Given the description of an element on the screen output the (x, y) to click on. 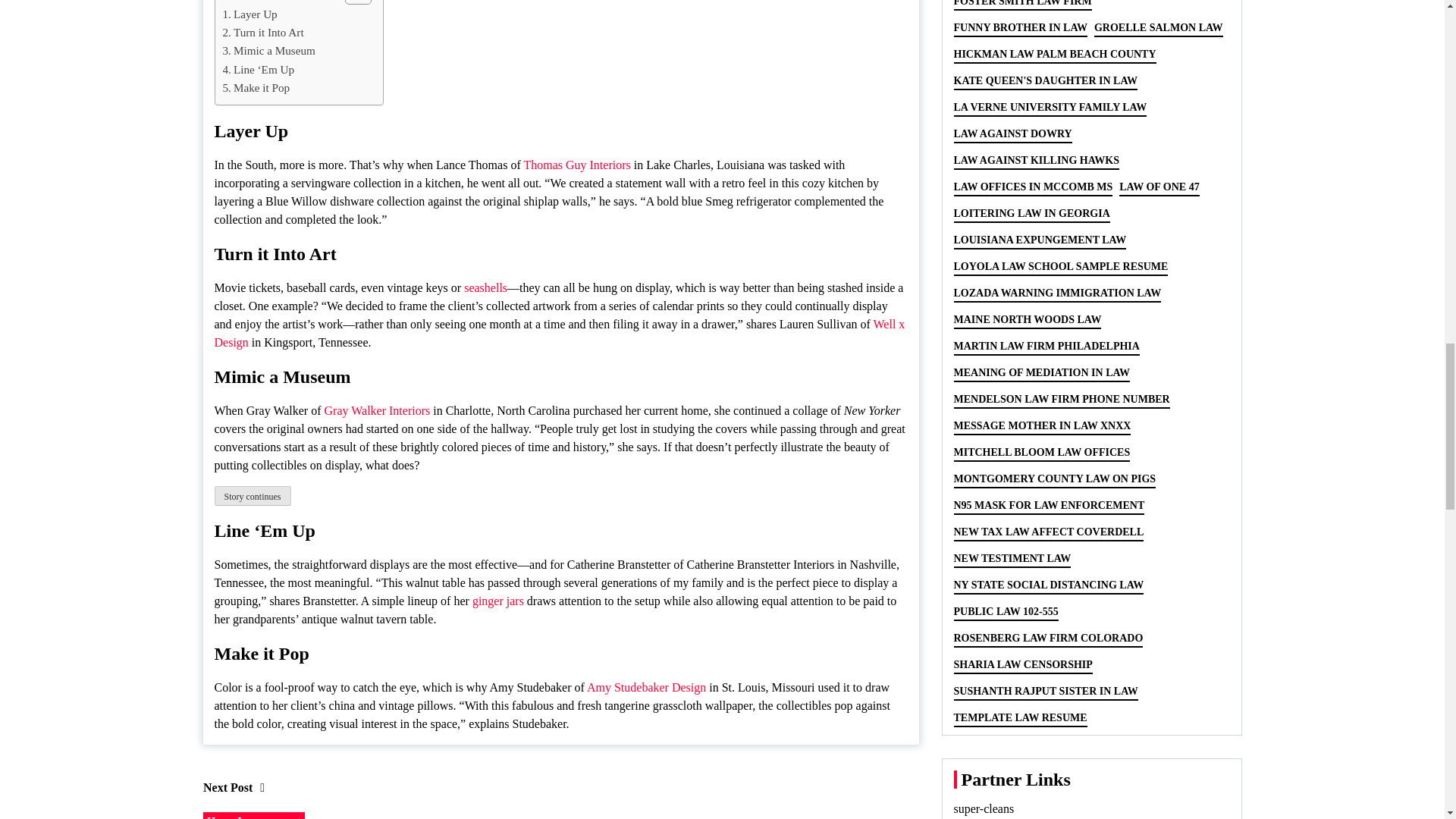
Mimic a Museum (268, 50)
Layer Up (250, 13)
Make it Pop (255, 87)
Turn it Into Art (263, 32)
